Given the description of an element on the screen output the (x, y) to click on. 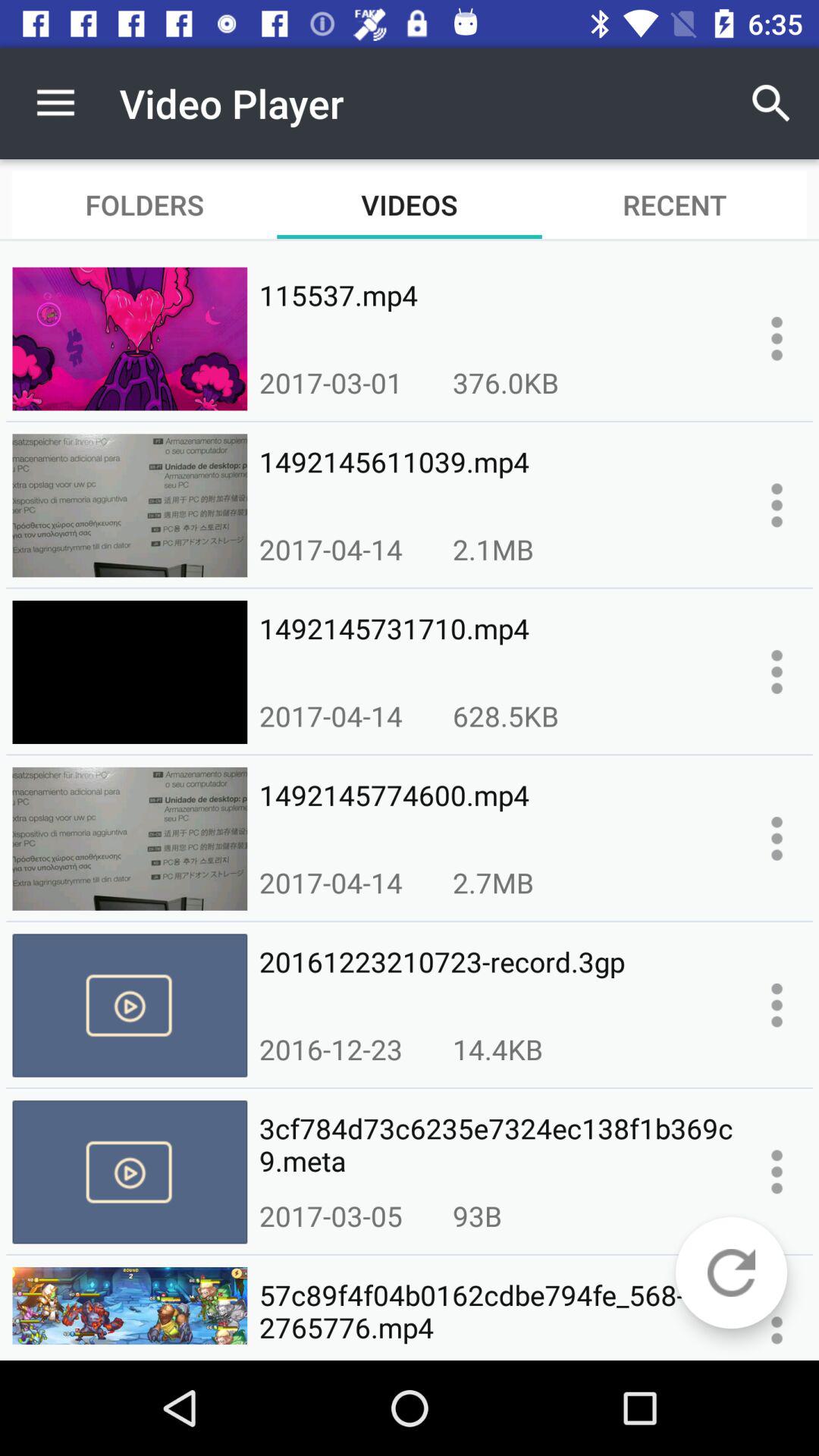
choose the 93b icon (477, 1215)
